Given the description of an element on the screen output the (x, y) to click on. 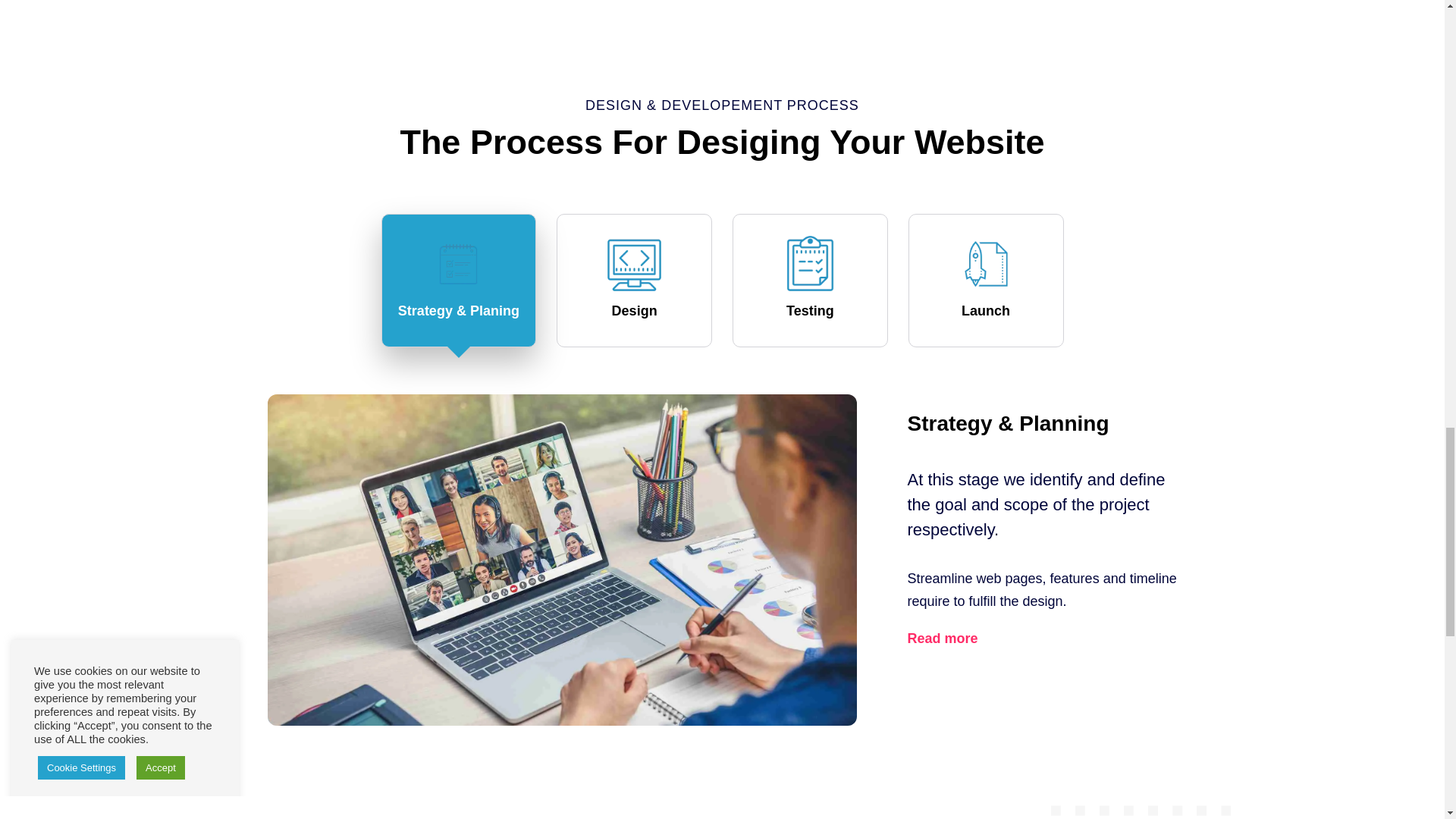
squares (1140, 812)
